Given the description of an element on the screen output the (x, y) to click on. 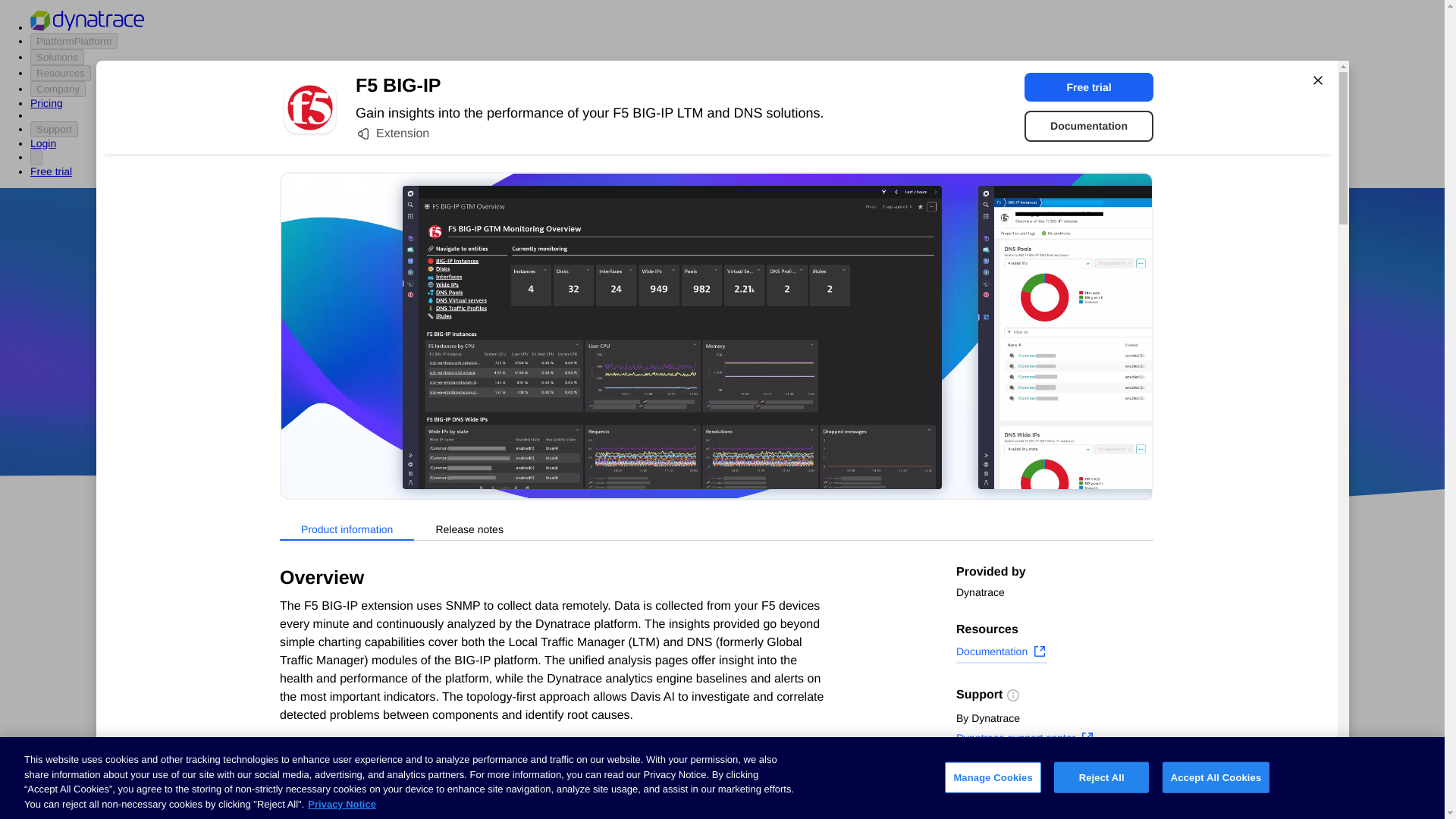
AWS (637, 418)
360performance (840, 375)
Documentation (1089, 125)
Subscribe to new releases (1054, 782)
Documentation (1001, 653)
360performance (840, 375)
DevOps (829, 418)
Free trial (1089, 86)
Azure (681, 418)
Dynatrace support center (1025, 740)
 certificate ssl synthetic test (607, 793)
Copy page link (1003, 806)
Advanced SSL Certificate Check for Dynatrace (606, 731)
Open source (903, 418)
Google Cloud (751, 418)
